Given the description of an element on the screen output the (x, y) to click on. 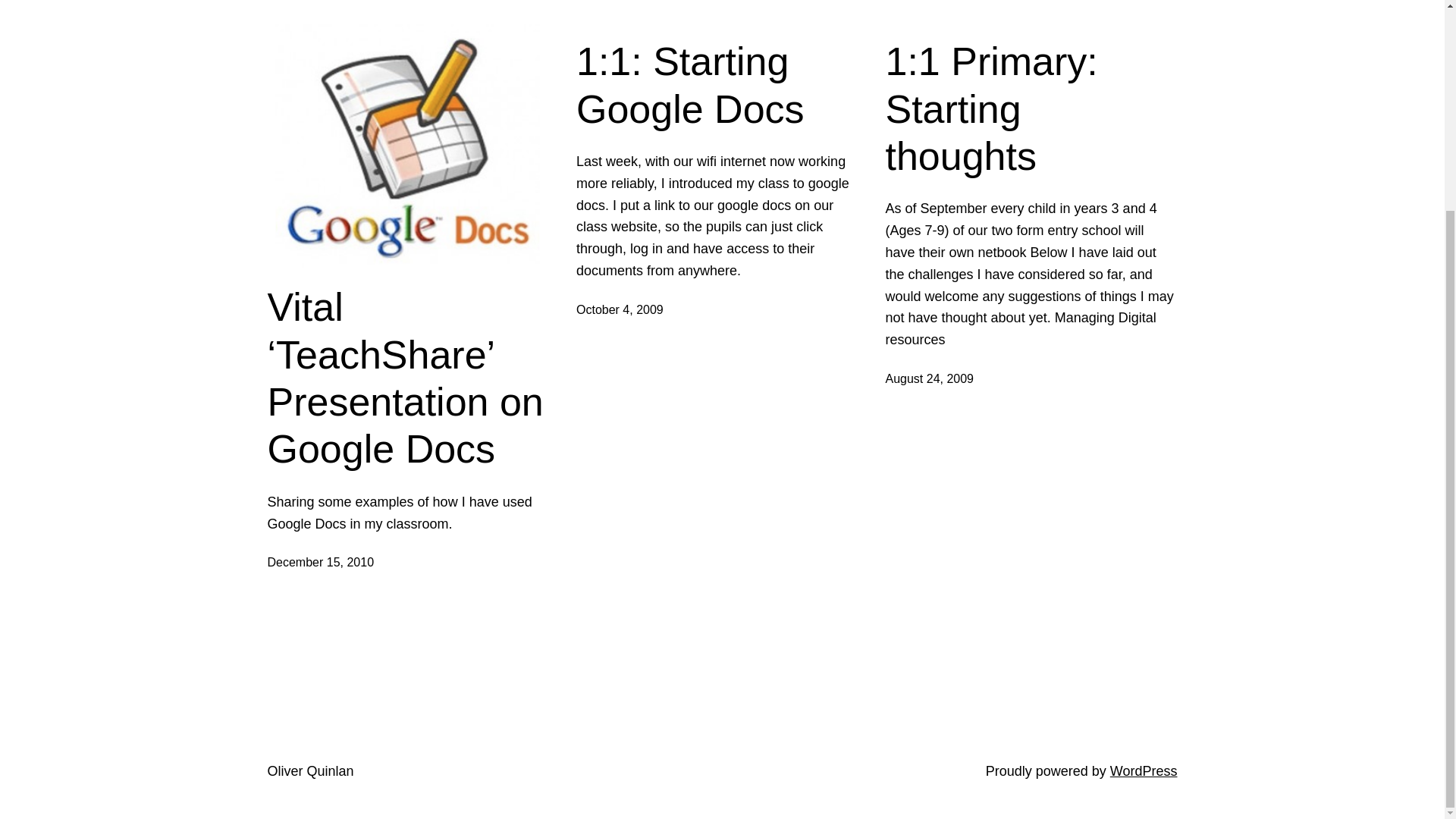
Oliver Quinlan (309, 770)
1:1: Starting Google Docs (721, 84)
WordPress (1143, 770)
1:1 Primary: Starting thoughts (1030, 108)
August 24, 2009 (929, 378)
December 15, 2010 (320, 562)
October 4, 2009 (619, 309)
